Given the description of an element on the screen output the (x, y) to click on. 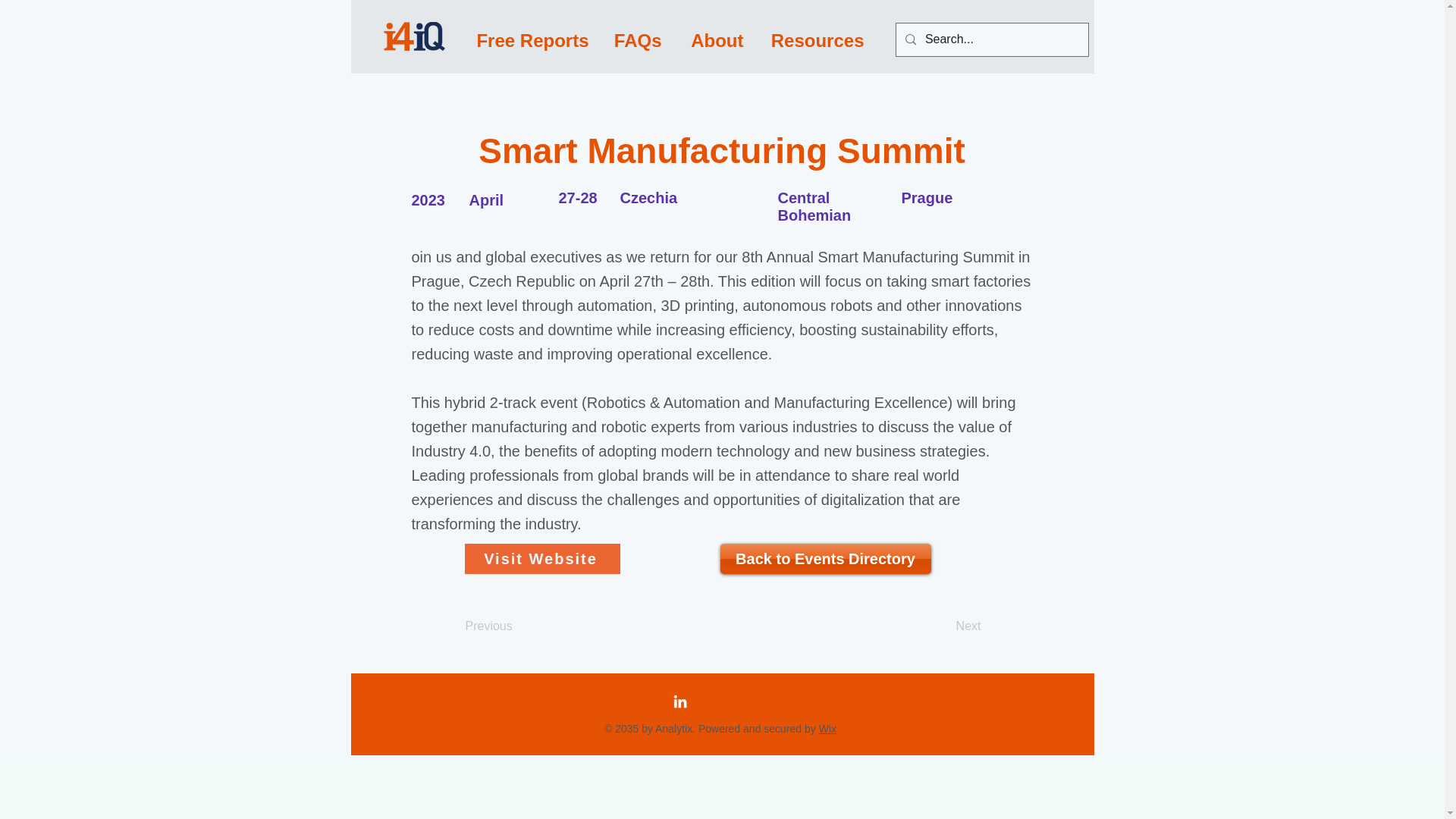
Wix (826, 728)
About (713, 39)
Previous (515, 625)
Visit Website (542, 558)
Back to Events Directory (825, 558)
Next (943, 625)
Free Reports (530, 39)
Resources (815, 39)
FAQs (635, 39)
